Given the description of an element on the screen output the (x, y) to click on. 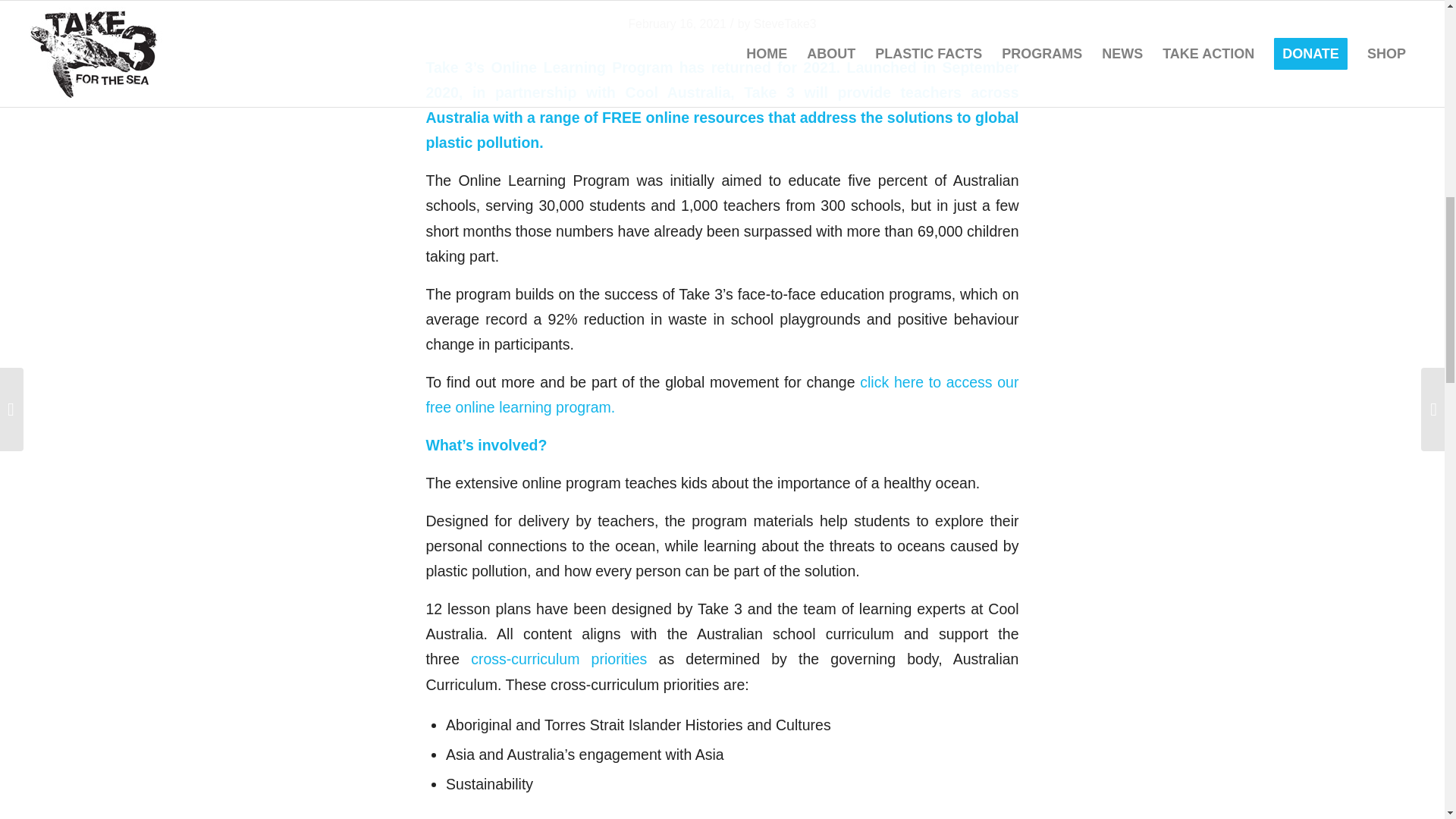
 cross-curriculum priorities (553, 658)
click here to access our free online learning program. (722, 394)
Posts by SteveTake3 (785, 23)
SteveTake3 (785, 23)
